Given the description of an element on the screen output the (x, y) to click on. 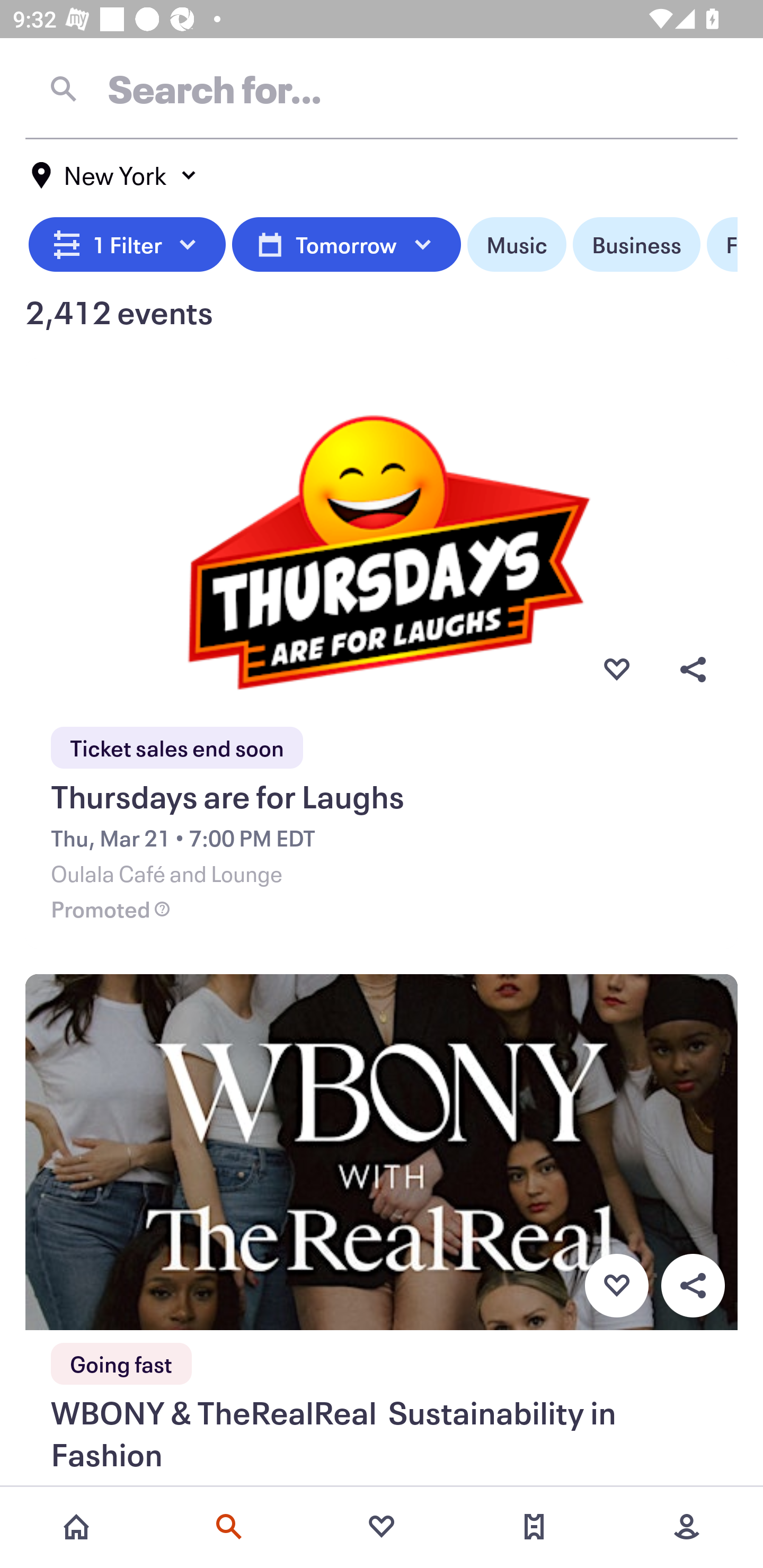
Search for… (381, 88)
New York (114, 175)
1 Filter (126, 244)
Tomorrow (345, 244)
Music (516, 244)
Business (636, 244)
Favorite button (616, 669)
Overflow menu button (692, 669)
Favorite button (616, 1285)
Overflow menu button (692, 1285)
Home (76, 1526)
Search events (228, 1526)
Favorites (381, 1526)
Tickets (533, 1526)
More (686, 1526)
